Given the description of an element on the screen output the (x, y) to click on. 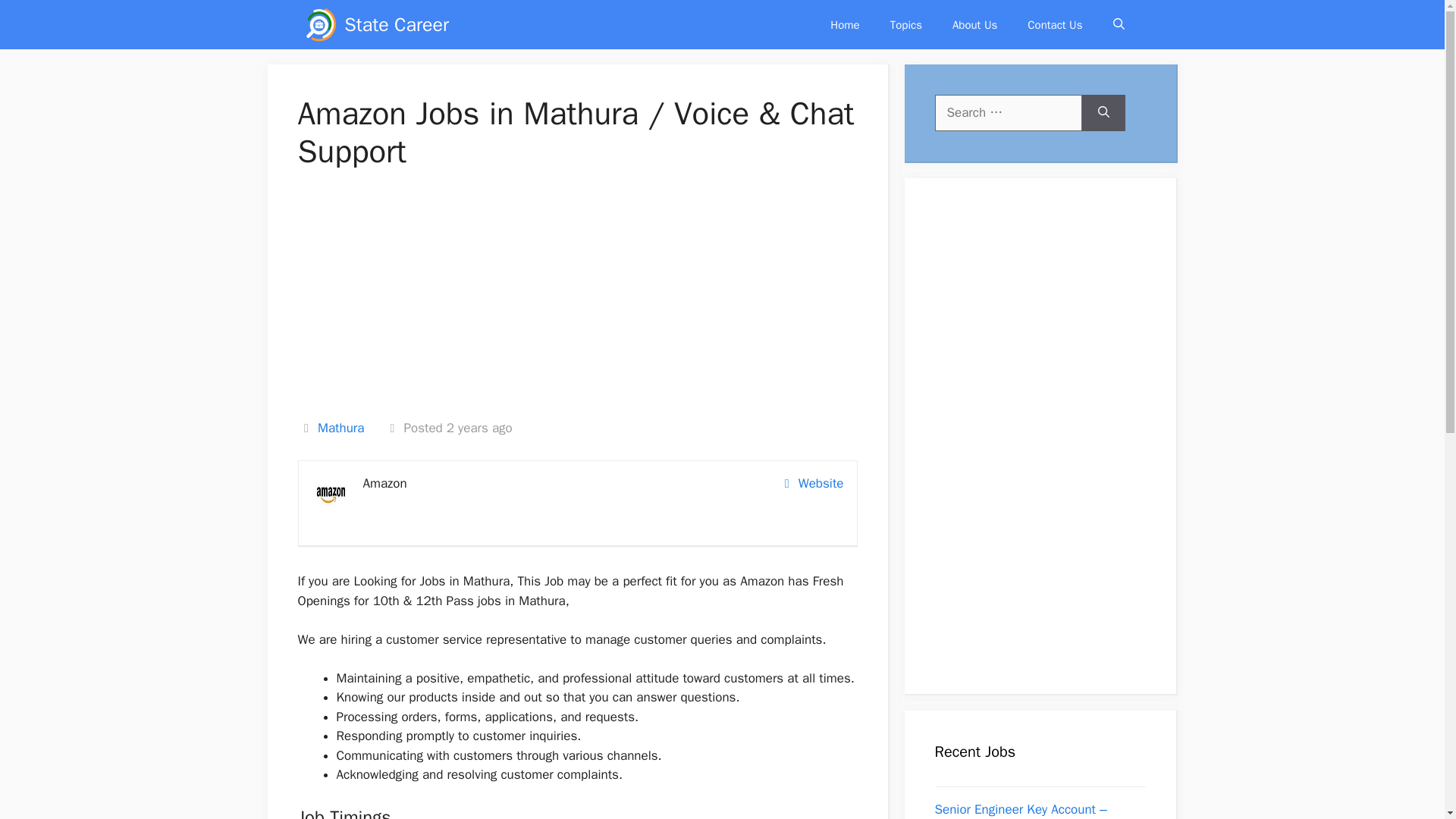
Search for: (1007, 113)
About Us (974, 23)
Contact Us (1054, 23)
Home (845, 23)
Website (814, 483)
Topics (906, 23)
State Career (395, 24)
Advertisement (577, 303)
Mathura (340, 427)
